Given the description of an element on the screen output the (x, y) to click on. 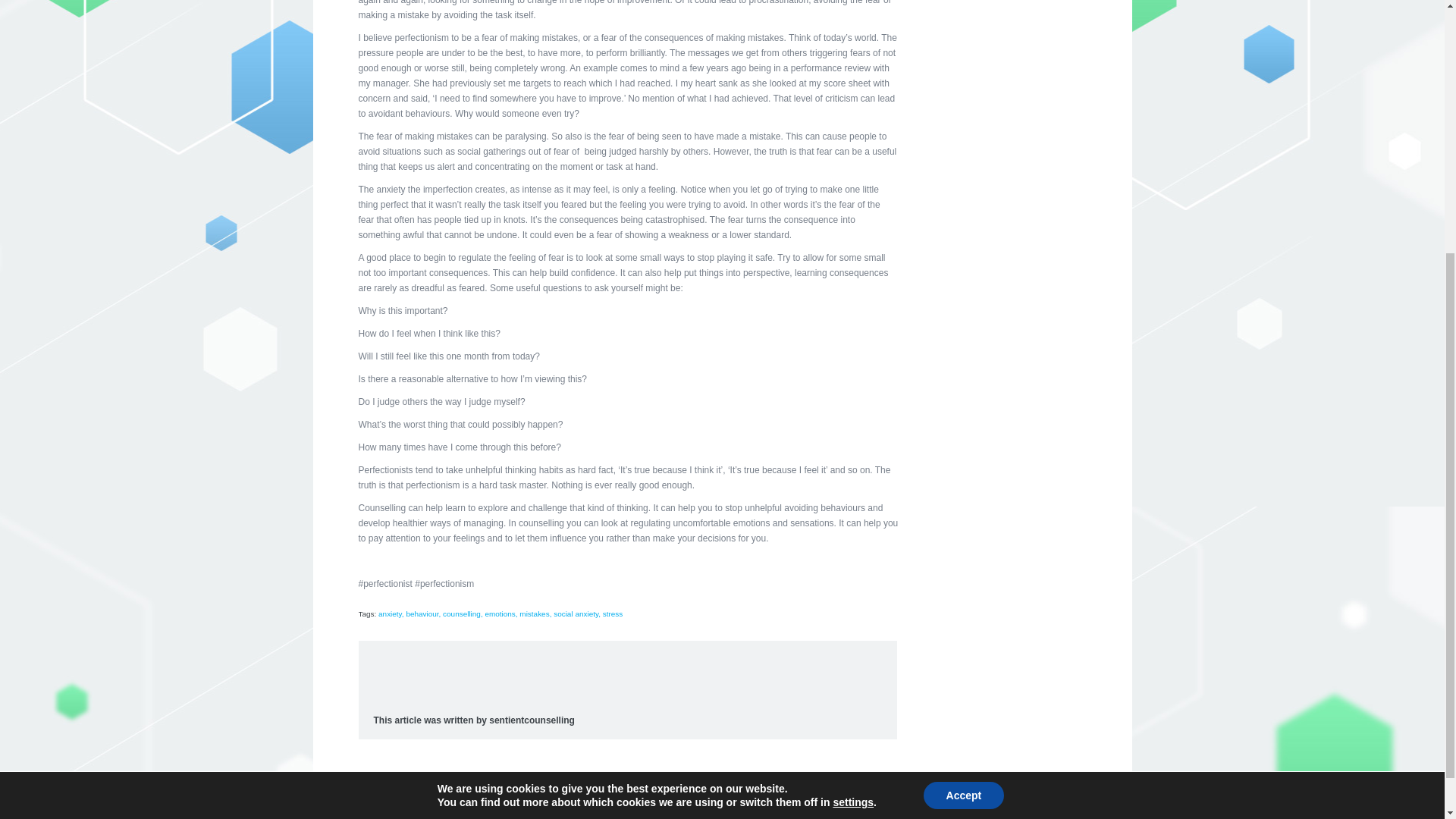
anxiety (389, 613)
counselling (461, 613)
behaviour (422, 613)
stress (612, 613)
emotions (499, 613)
social anxiety (575, 613)
mistakes (533, 613)
Accept (963, 416)
